Given the description of an element on the screen output the (x, y) to click on. 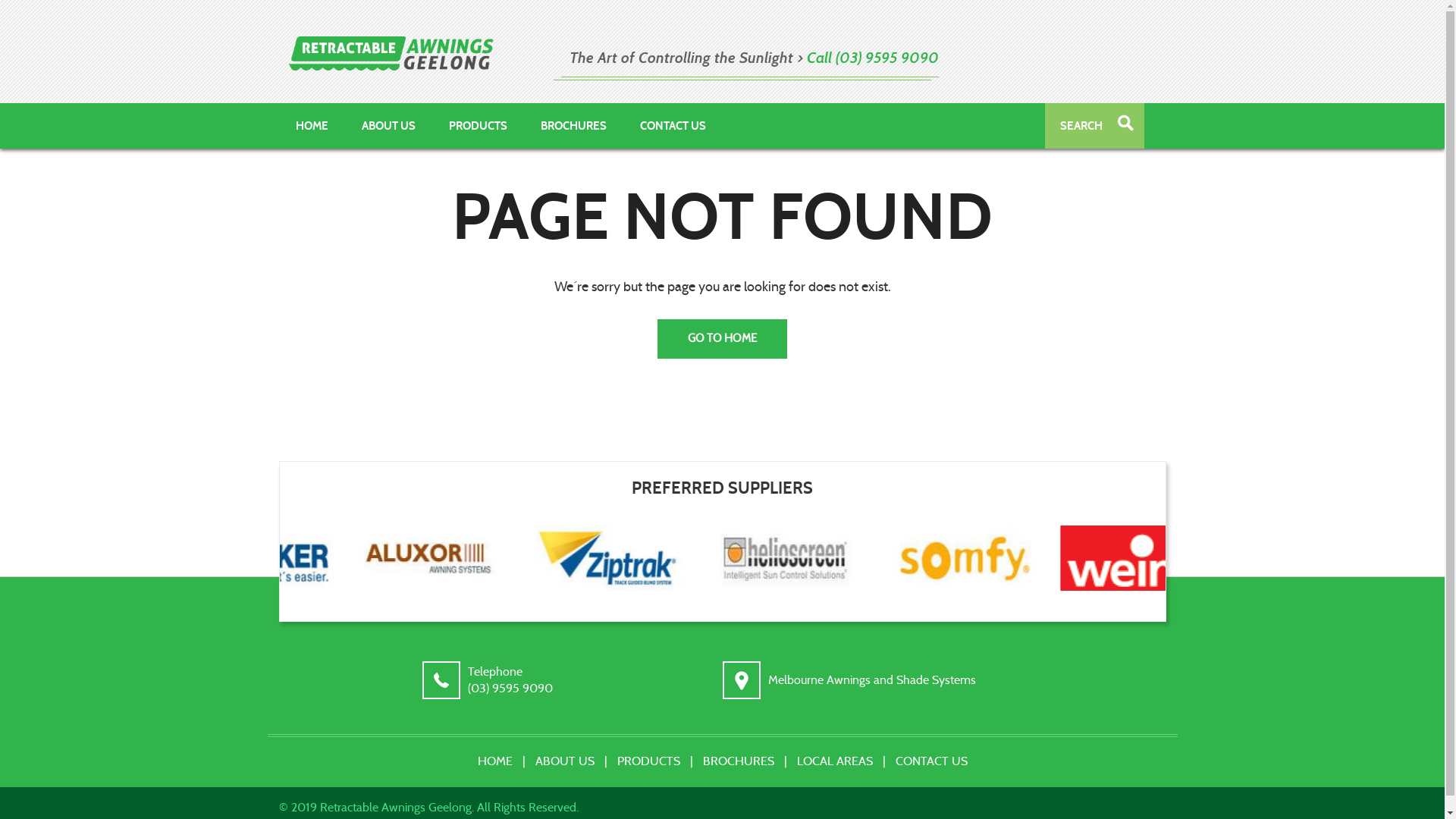
Retractable Awnings Geelong Element type: hover (390, 53)
(03) 9595 9090 Element type: text (509, 687)
Becker Element type: hover (328, 557)
BROCHURES Element type: text (738, 760)
LOCAL AREAS Element type: text (834, 760)
Call (03) 9595 9090 Element type: text (872, 57)
GO TO HOME Element type: text (722, 338)
ABOUT US Element type: text (563, 760)
Somfy Element type: hover (1023, 557)
Aluxor Element type: hover (500, 557)
Retractable Awnings Geelong Element type: hover (391, 53)
Search Element type: text (1124, 123)
BROCHURES Element type: text (572, 125)
HOME Element type: text (312, 125)
CONTACT US Element type: text (931, 760)
Helioscreen Element type: hover (848, 557)
CONTACT US Element type: text (672, 125)
ABOUT US Element type: text (387, 125)
PRODUCTS Element type: text (478, 125)
Ziptrak Element type: hover (676, 557)
HOME Element type: text (494, 760)
PRODUCTS Element type: text (647, 760)
